Given the description of an element on the screen output the (x, y) to click on. 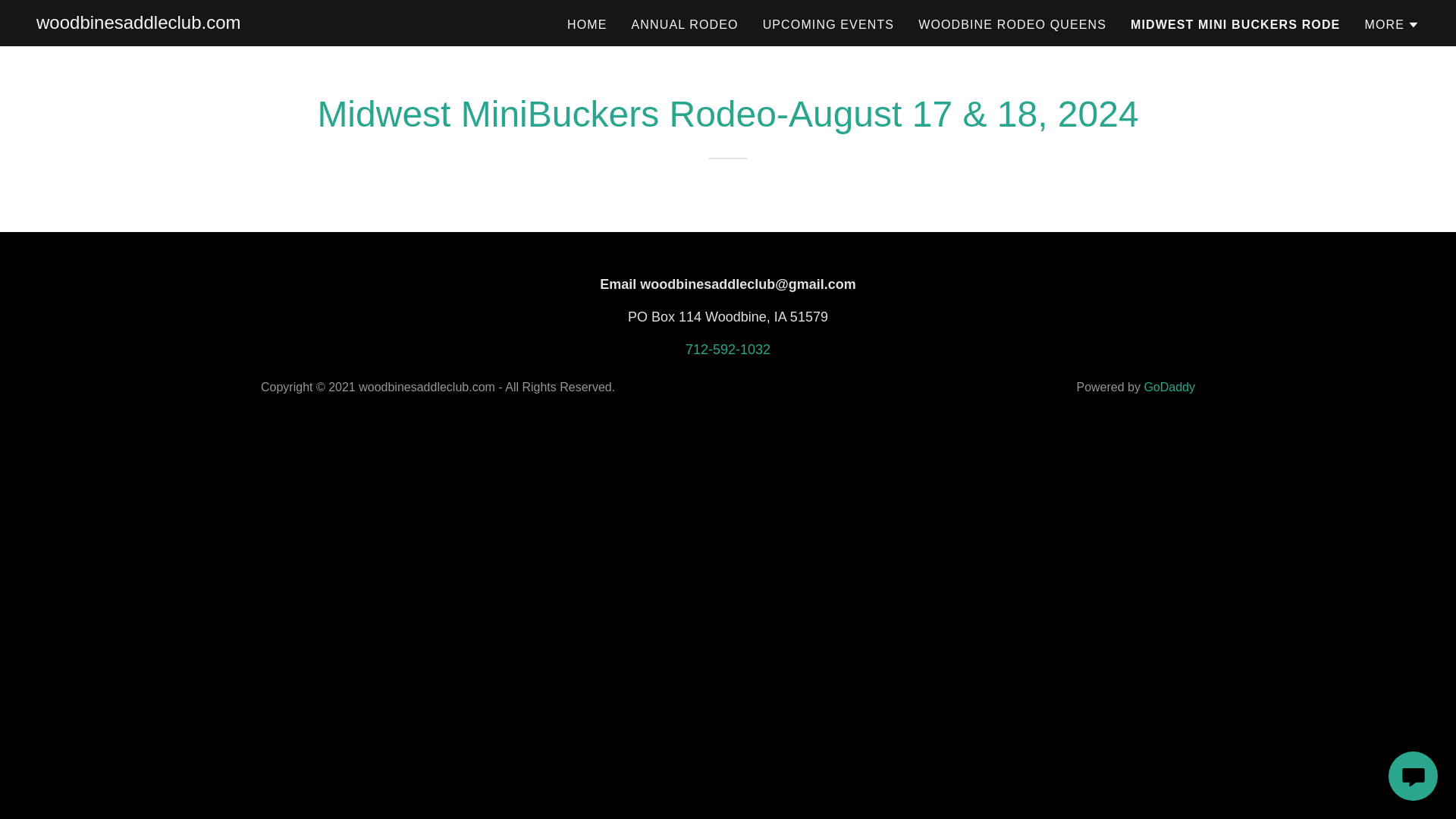
woodbinesaddleclub.com (138, 23)
HOME (586, 24)
woodbinesaddleclub.com (138, 23)
ANNUAL RODEO (684, 24)
712-592-1032 (727, 349)
GoDaddy (1168, 386)
MIDWEST MINI BUCKERS RODE (1235, 24)
WOODBINE RODEO QUEENS (1012, 24)
MORE (1391, 24)
UPCOMING EVENTS (828, 24)
